Given the description of an element on the screen output the (x, y) to click on. 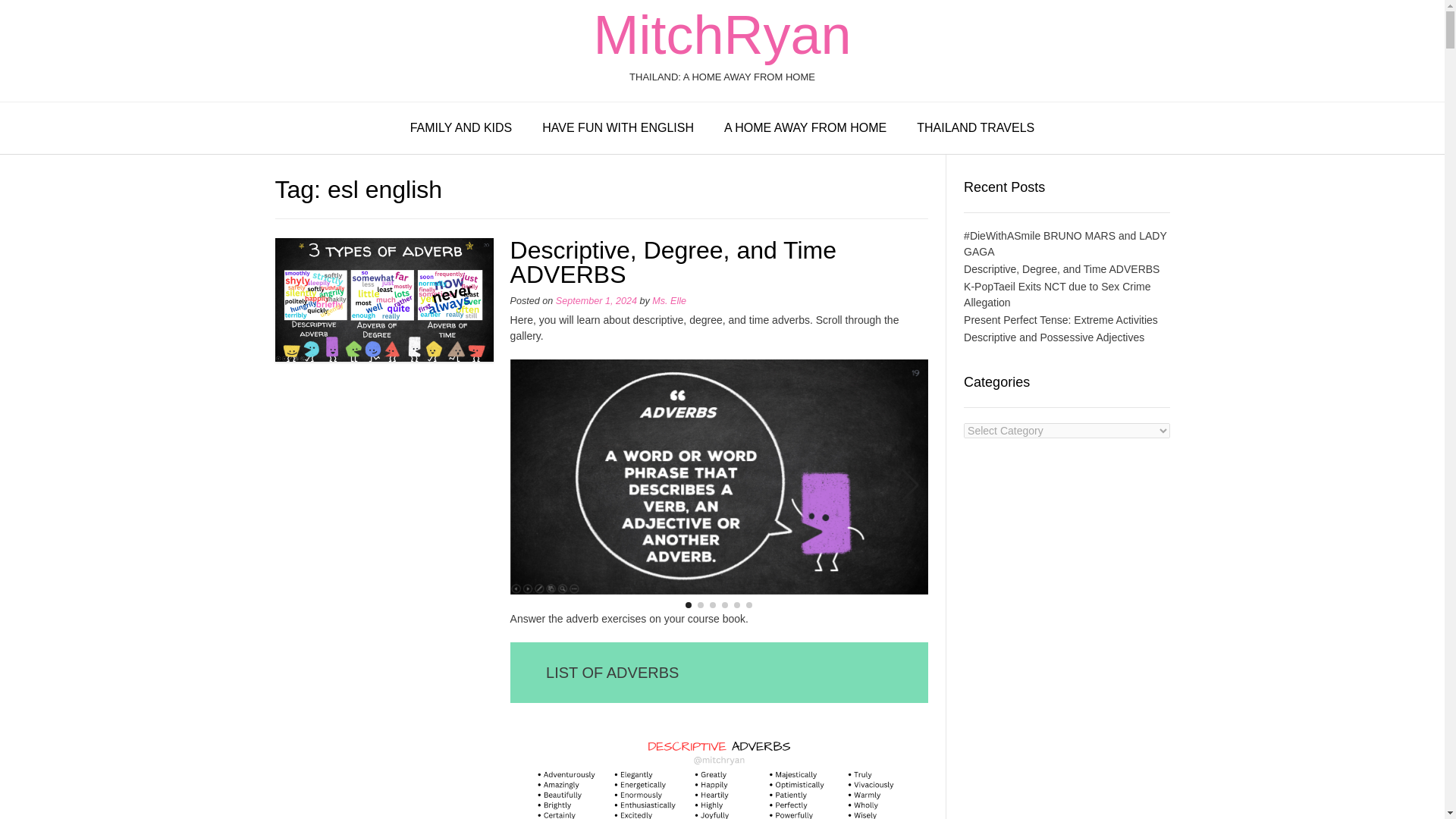
Descriptive, Degree, and Time ADVERBS (673, 262)
Ms. Elle (668, 300)
MitchRyan (721, 34)
MitchRyan (721, 34)
A HOME AWAY FROM HOME (805, 128)
THAILAND TRAVELS (975, 128)
FAMILY AND KIDS (460, 128)
September 1, 2024 (596, 300)
HAVE FUN WITH ENGLISH (618, 128)
